Given the description of an element on the screen output the (x, y) to click on. 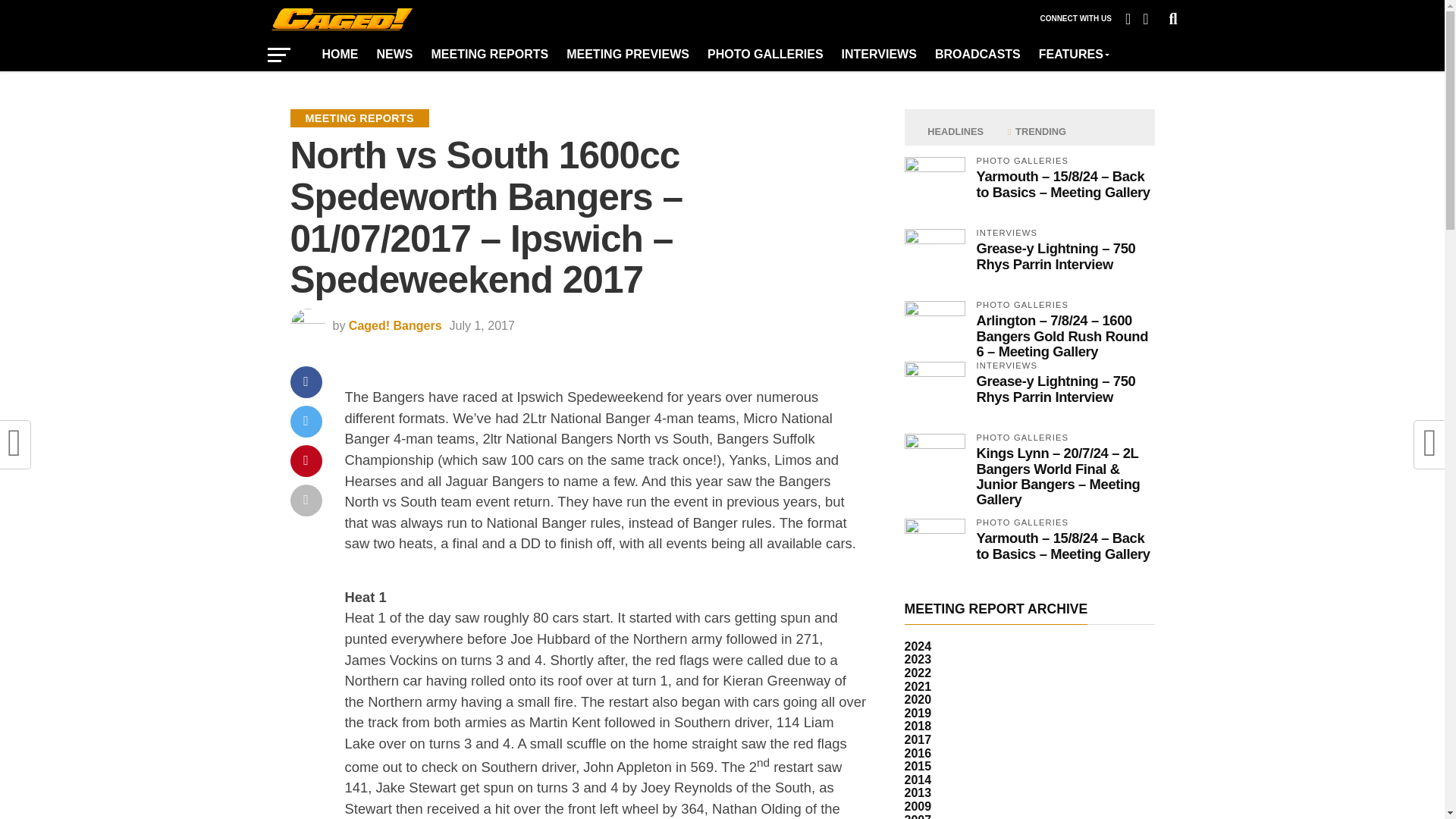
MEETING PREVIEWS (627, 54)
NEWS (394, 54)
HOME (339, 54)
Posts by Caged! Bangers (395, 325)
PHOTO GALLERIES (765, 54)
MEETING REPORTS (489, 54)
